Given the description of an element on the screen output the (x, y) to click on. 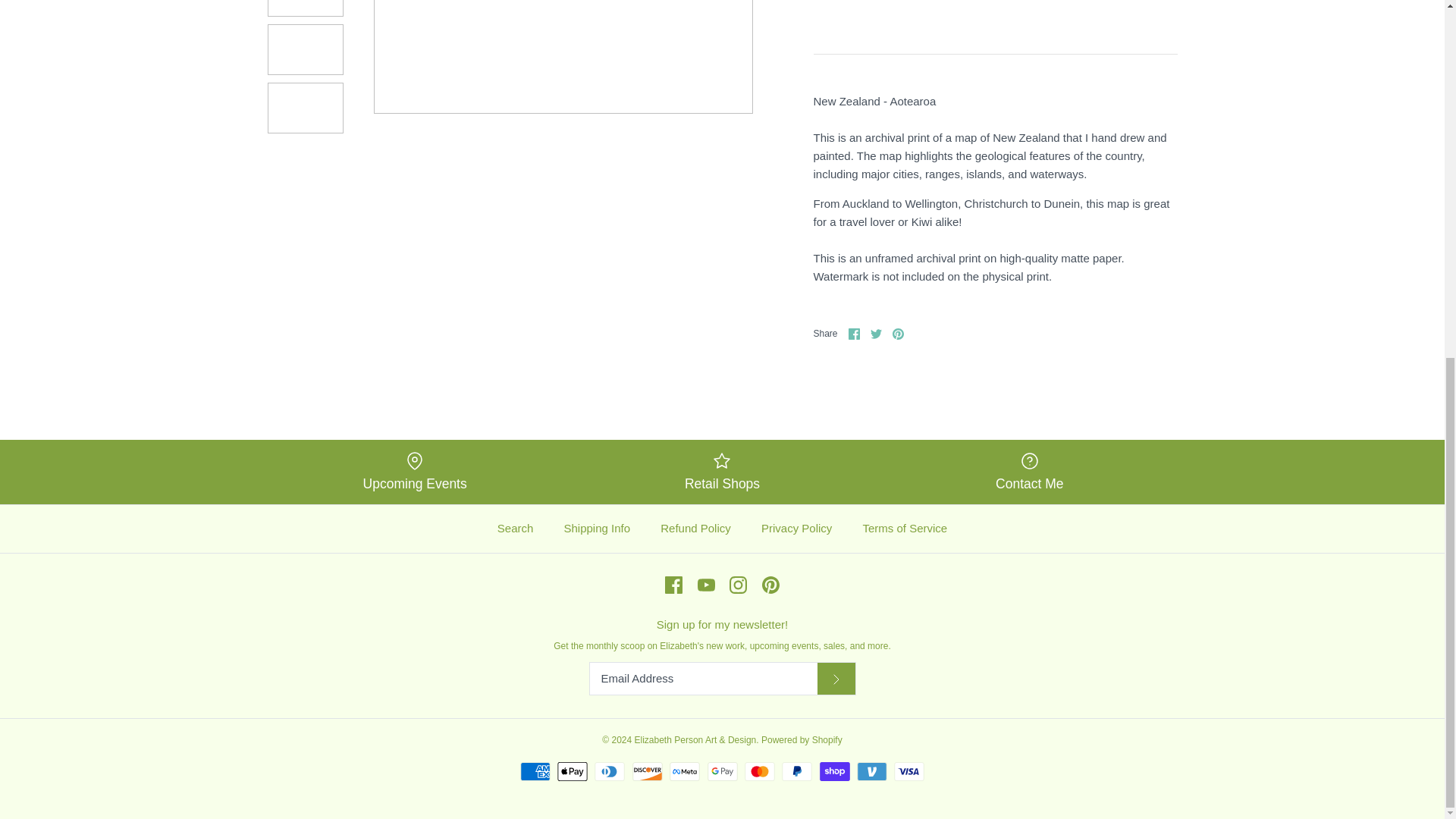
Pinterest (769, 584)
Facebook (854, 333)
Facebook (673, 584)
Facebook (673, 584)
Youtube (705, 584)
American Express (534, 771)
Instagram (737, 584)
Pinterest (898, 333)
Twitter (876, 333)
Diners Club (609, 771)
